Given the description of an element on the screen output the (x, y) to click on. 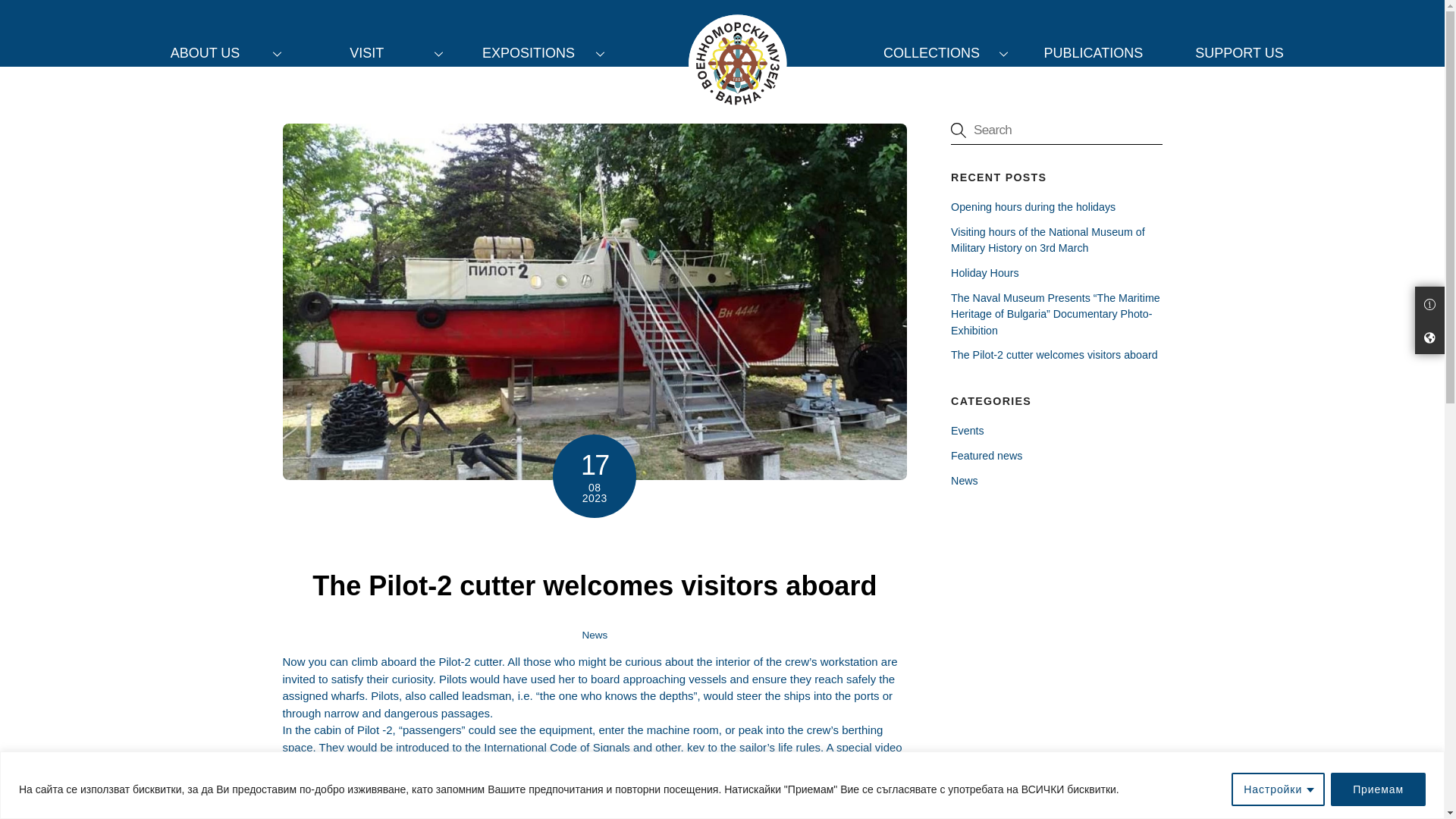
EXPOSITIONS (536, 52)
Maritime Museum (737, 63)
COLLECTIONS (939, 52)
ABOUT US (213, 52)
Search (1055, 130)
VISIT (374, 52)
